Given the description of an element on the screen output the (x, y) to click on. 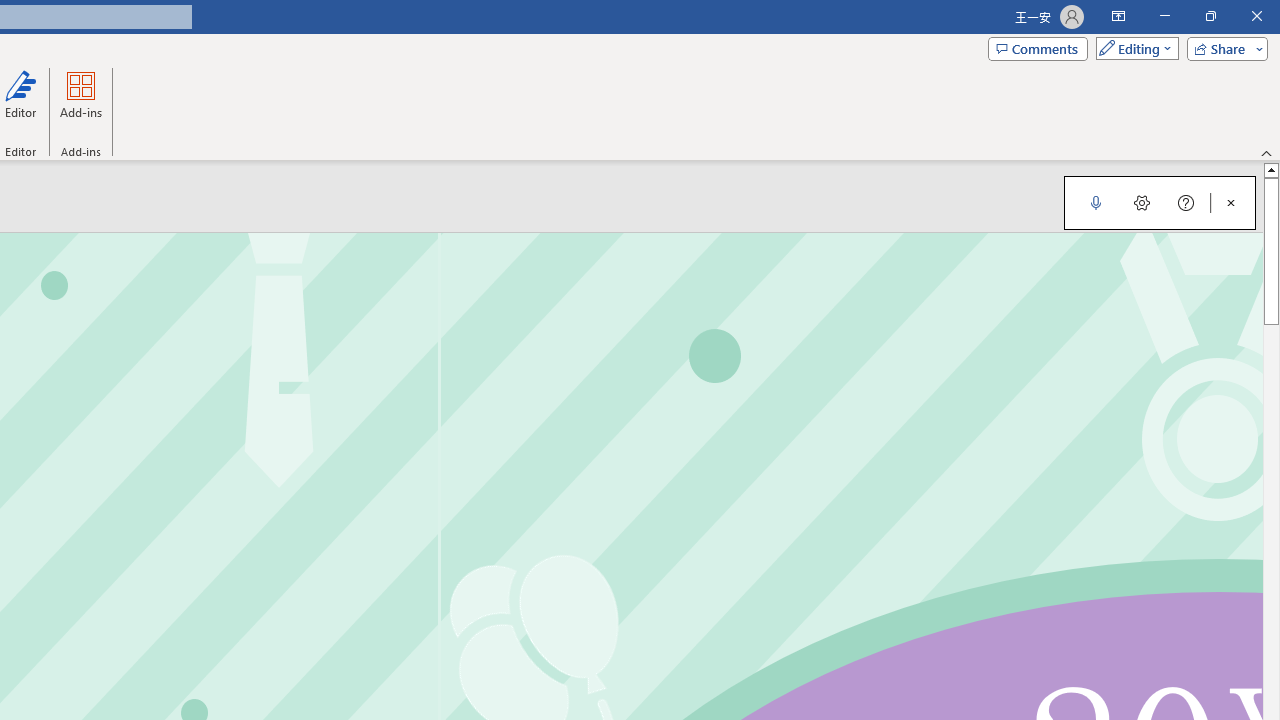
Editor (21, 102)
